Given the description of an element on the screen output the (x, y) to click on. 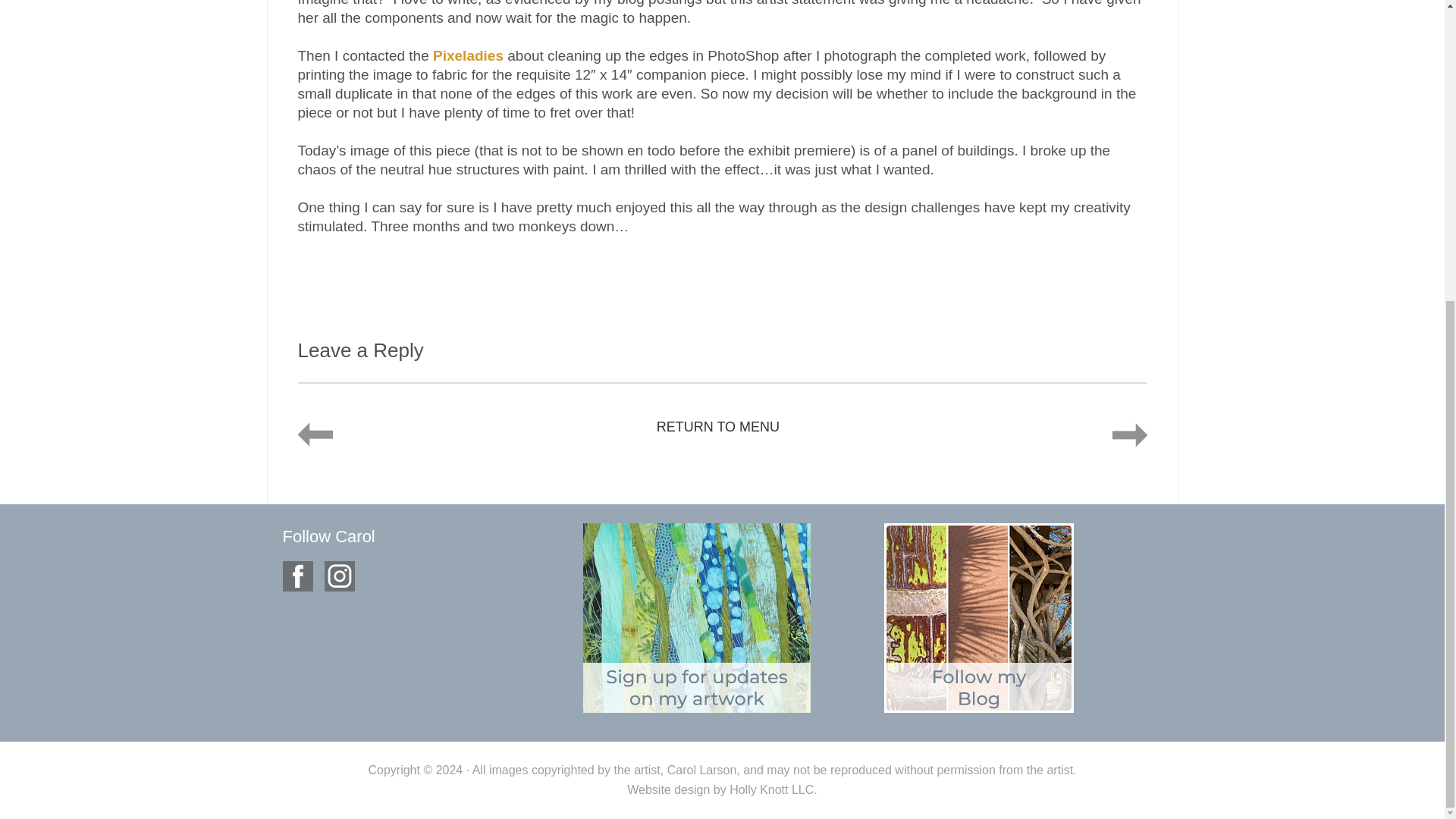
Pixeladies (467, 54)
Holly Knott LLC (771, 788)
RETURN TO MENU (717, 426)
